Given the description of an element on the screen output the (x, y) to click on. 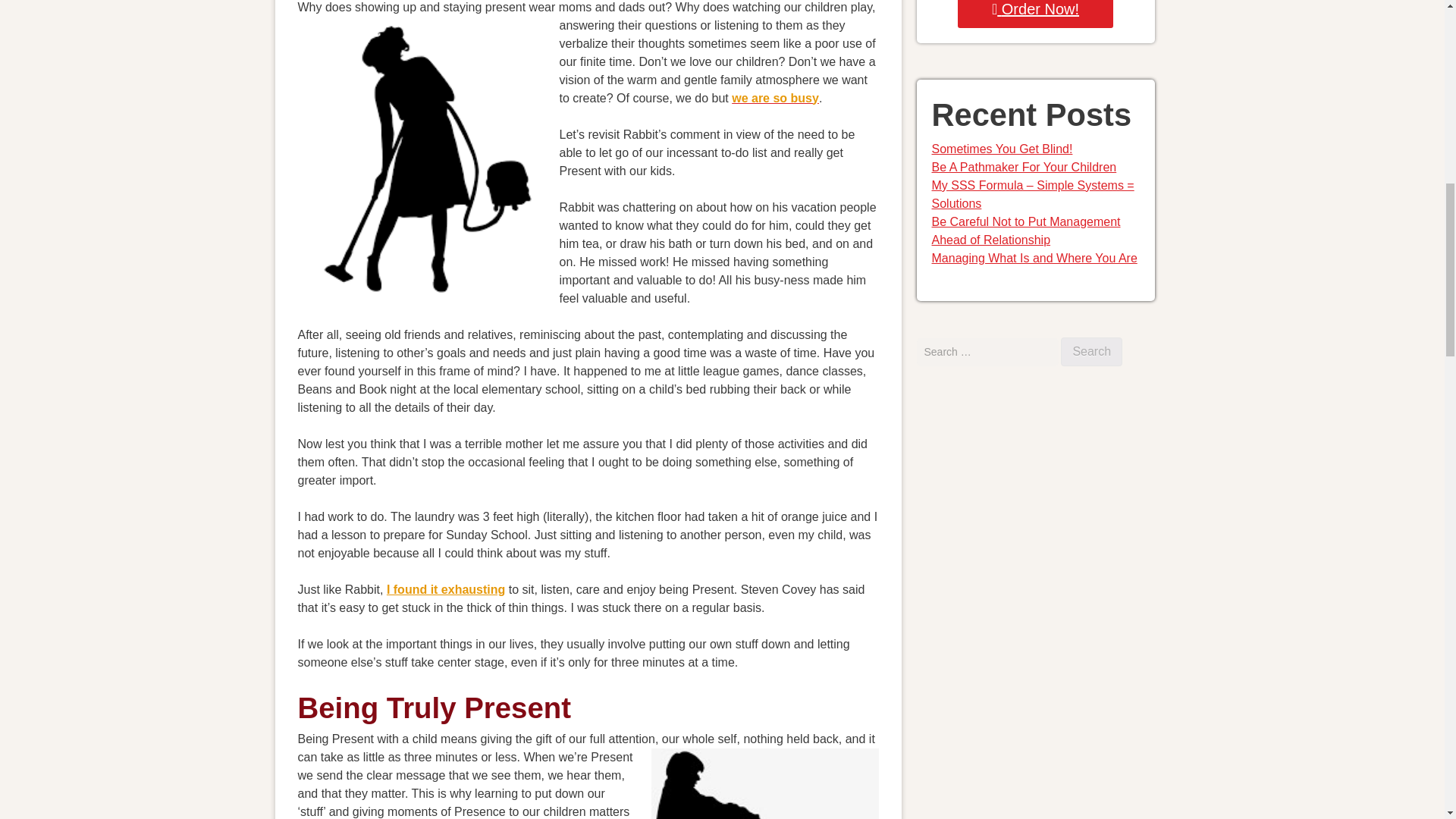
I found it exhausting (446, 588)
we are so busy (775, 97)
Search (1091, 351)
Search (1091, 351)
